Given the description of an element on the screen output the (x, y) to click on. 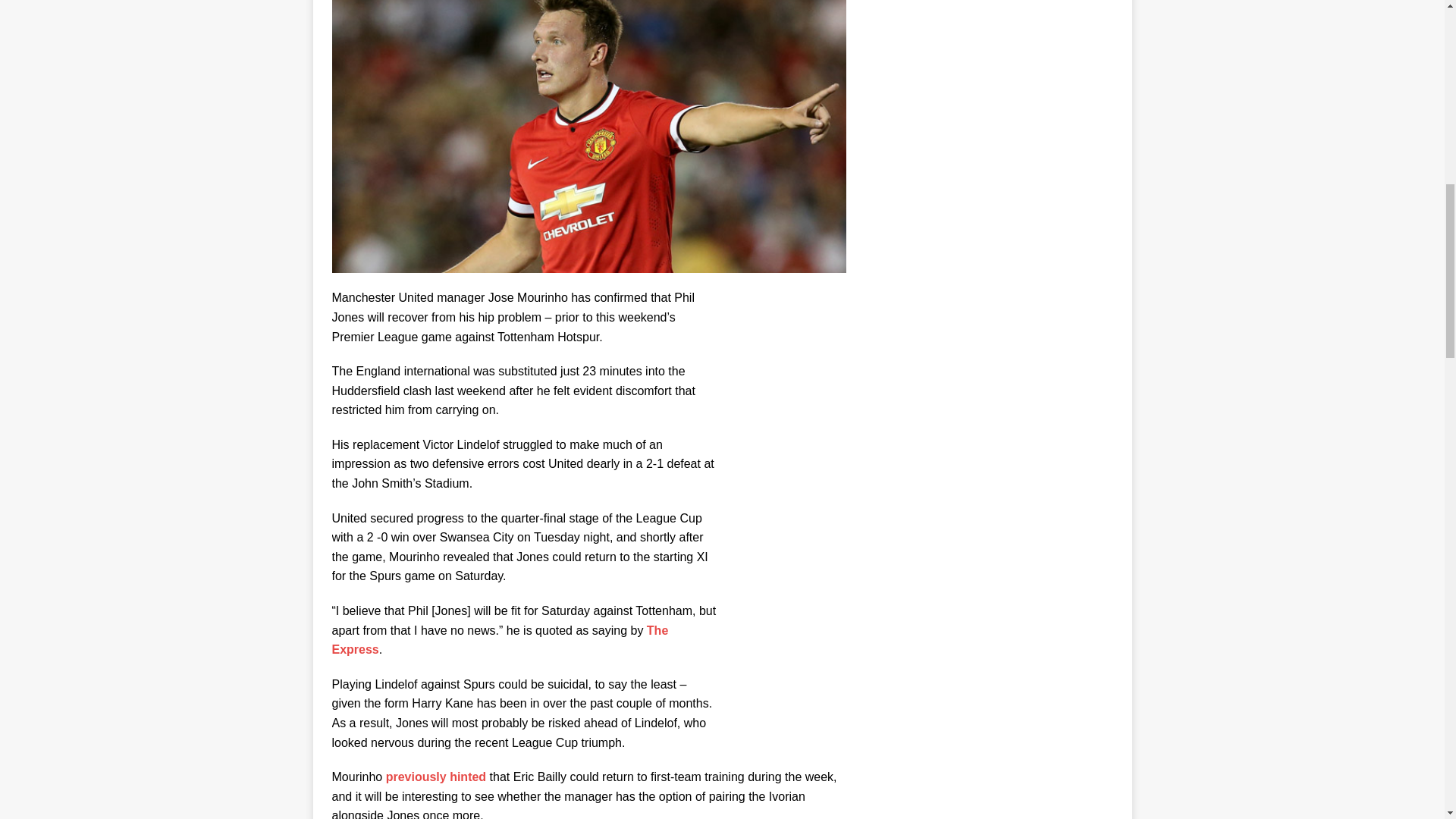
previously hinted (435, 776)
The Express (499, 640)
